Given the description of an element on the screen output the (x, y) to click on. 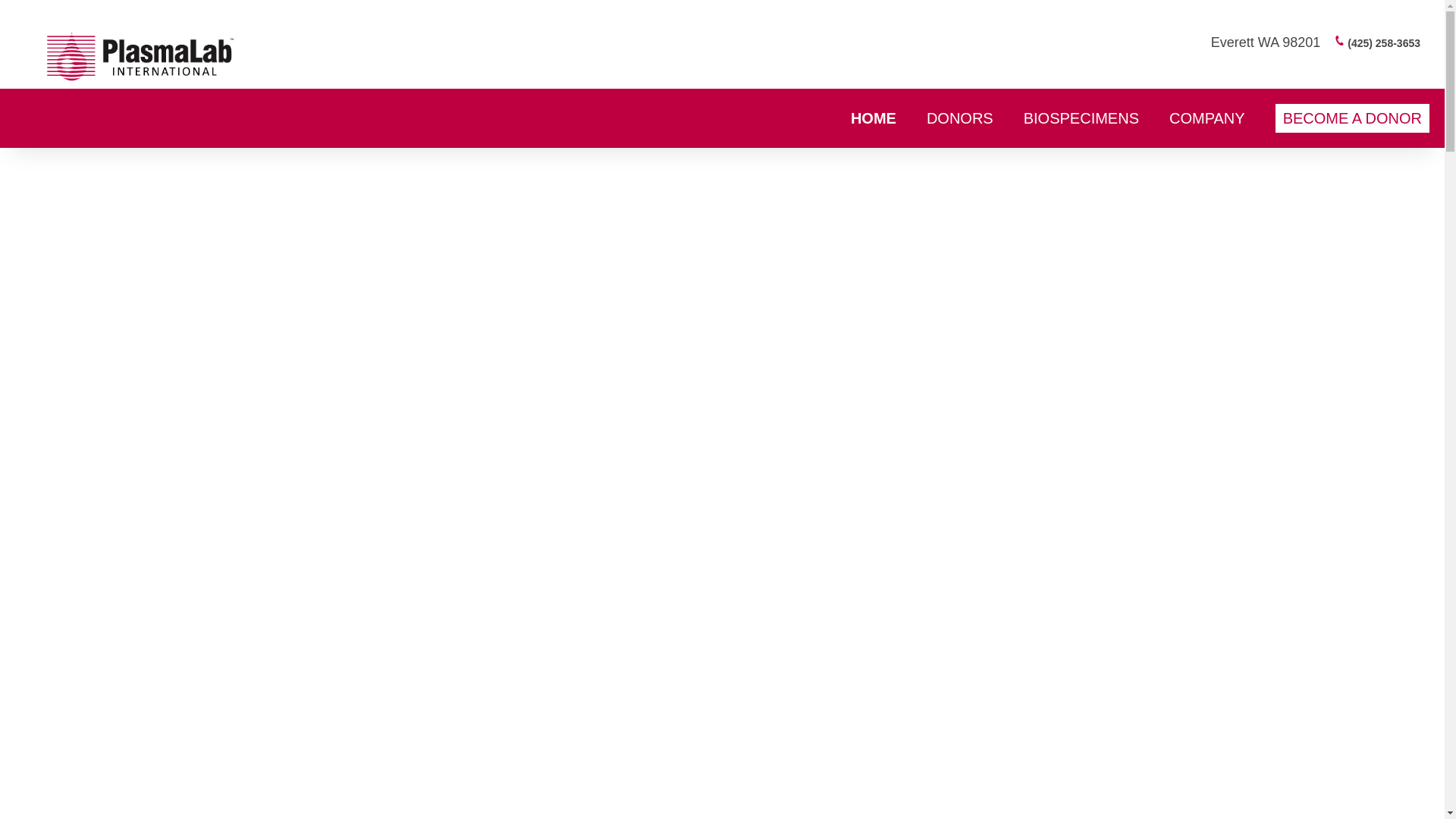
DONORS (960, 117)
PlasmaLab Everett, WA (139, 55)
HOME (873, 117)
Skip to content (41, 96)
Skip to content (41, 96)
